Given the description of an element on the screen output the (x, y) to click on. 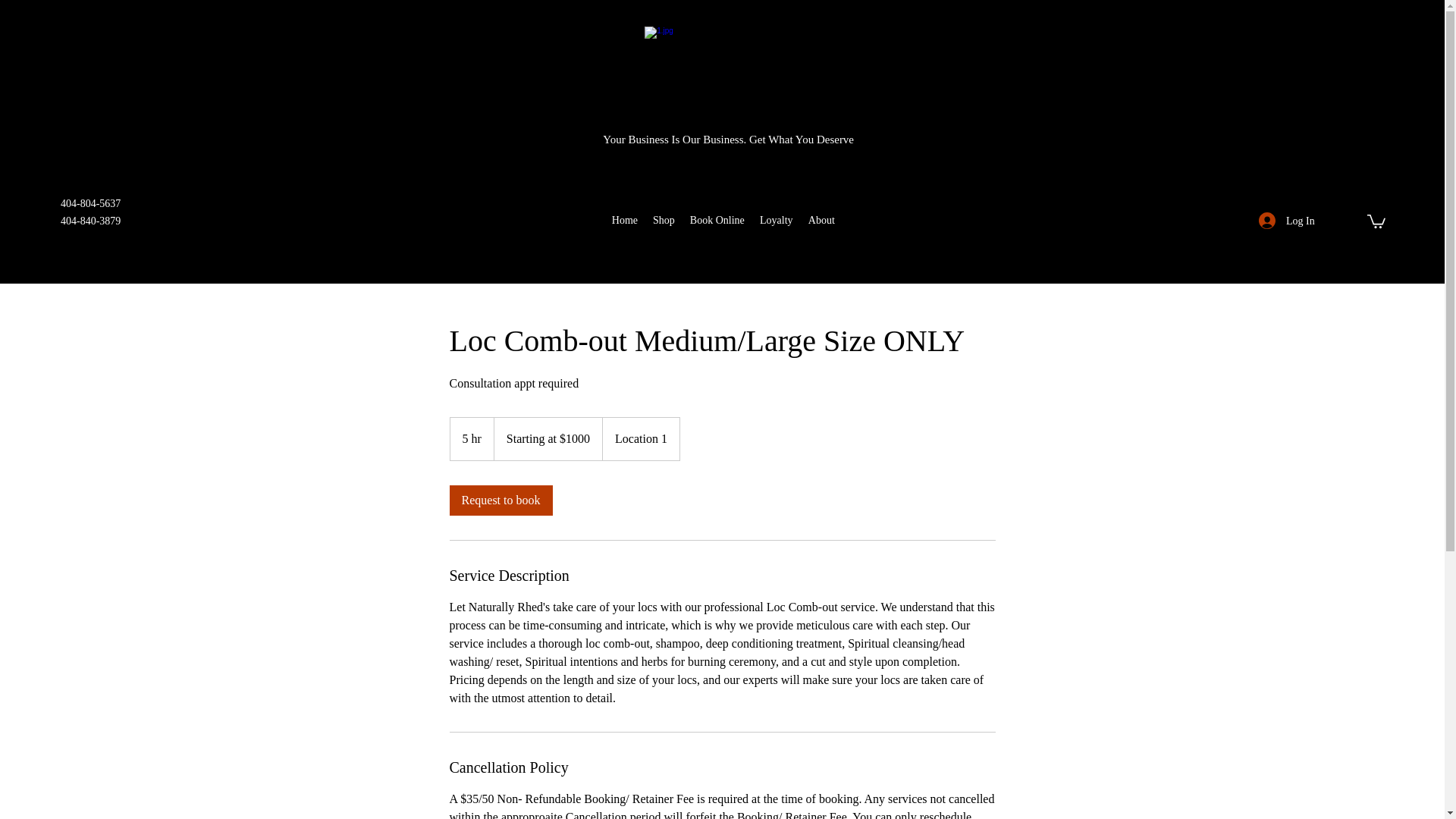
Log In (1281, 221)
Book Online (717, 220)
Loyalty (776, 220)
Shop (663, 220)
About (821, 220)
Request to book (499, 500)
Home (624, 220)
